Given the description of an element on the screen output the (x, y) to click on. 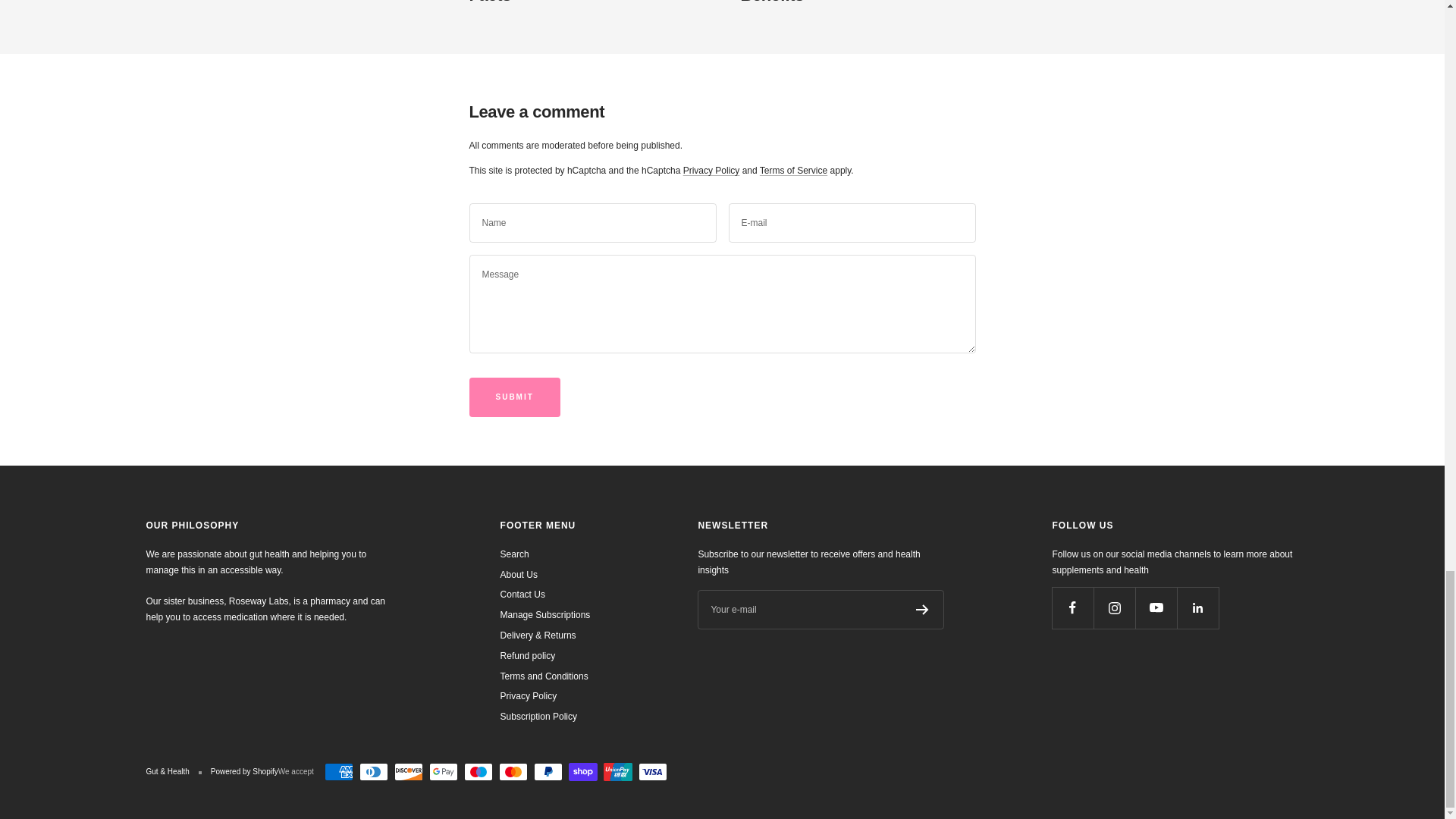
Register (921, 609)
